Given the description of an element on the screen output the (x, y) to click on. 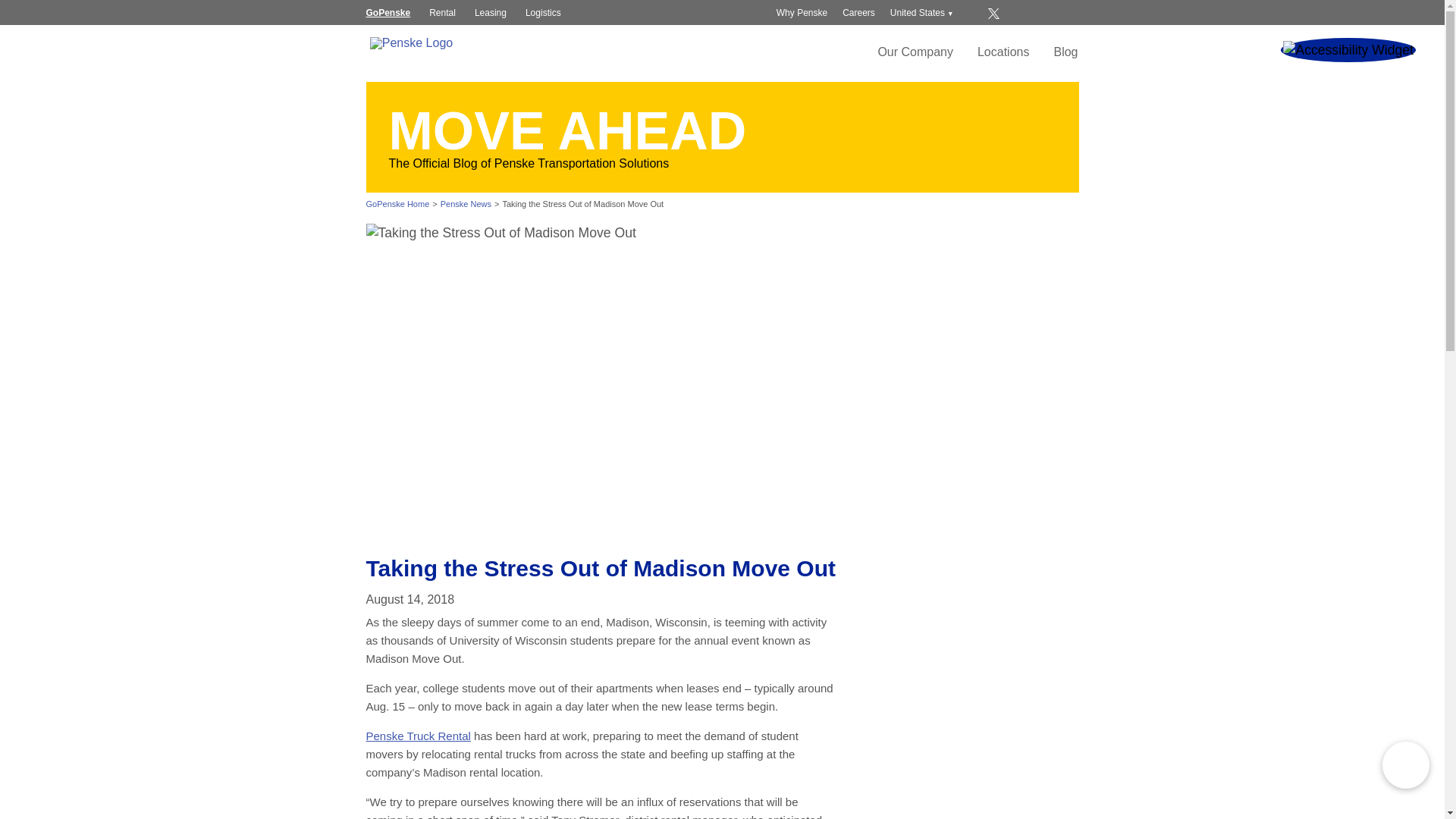
GoPenske (387, 12)
Logistics (542, 12)
Why Penske (801, 12)
Rental (442, 12)
Careers (859, 12)
Leasing (490, 12)
